Given the description of an element on the screen output the (x, y) to click on. 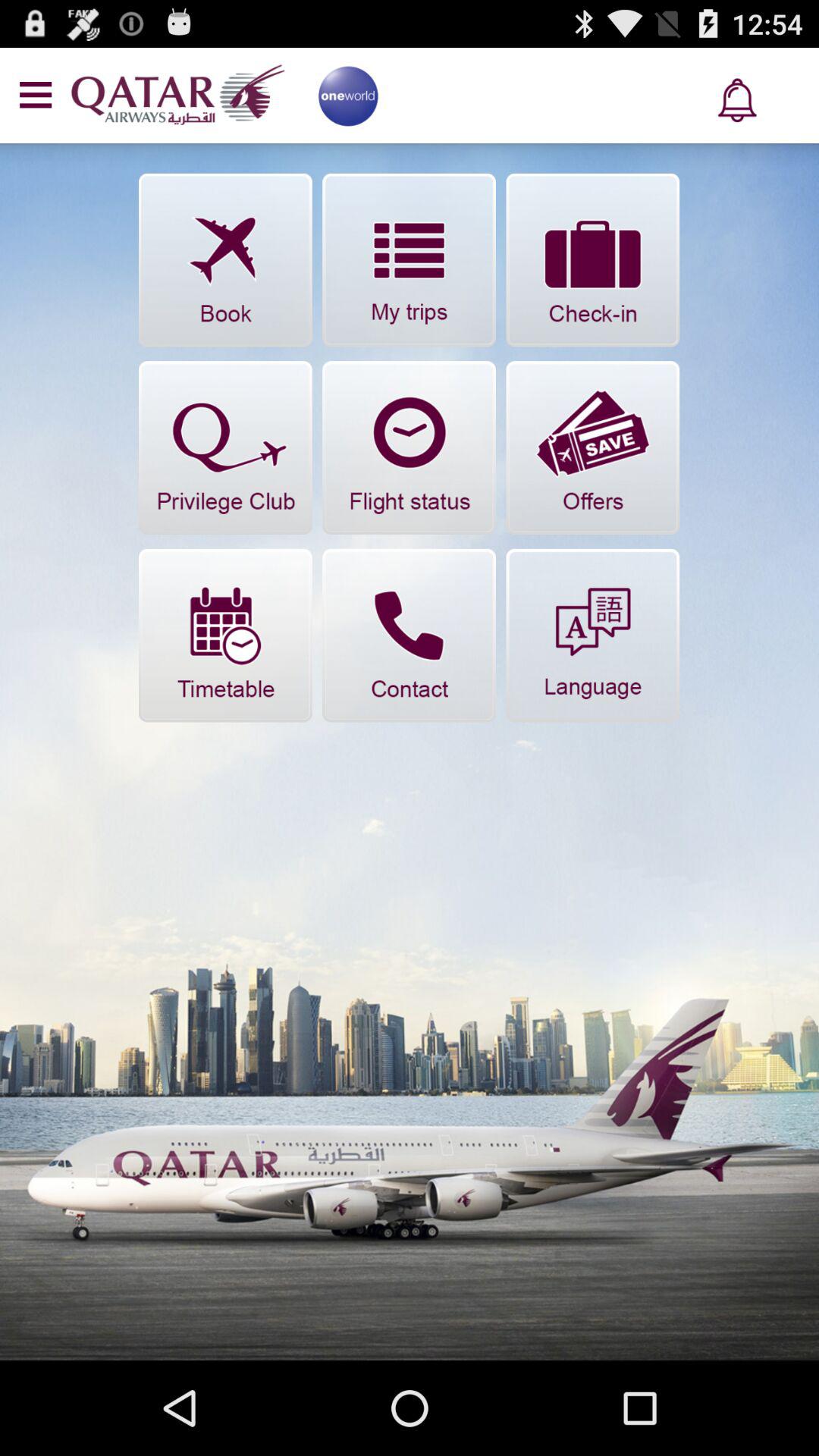
contact airline (408, 635)
